Given the description of an element on the screen output the (x, y) to click on. 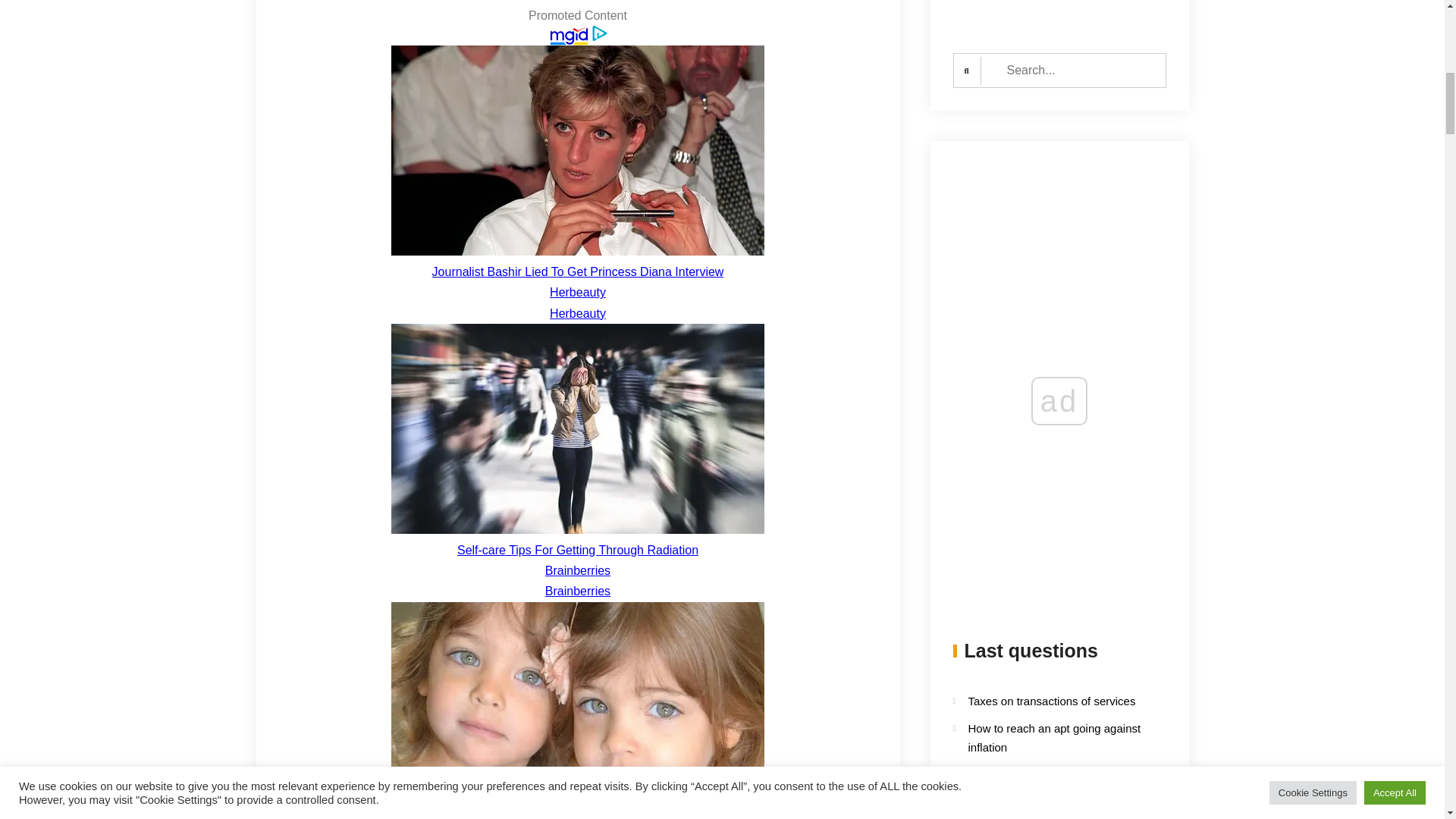
Taxes on transactions of services (1051, 700)
